Given the description of an element on the screen output the (x, y) to click on. 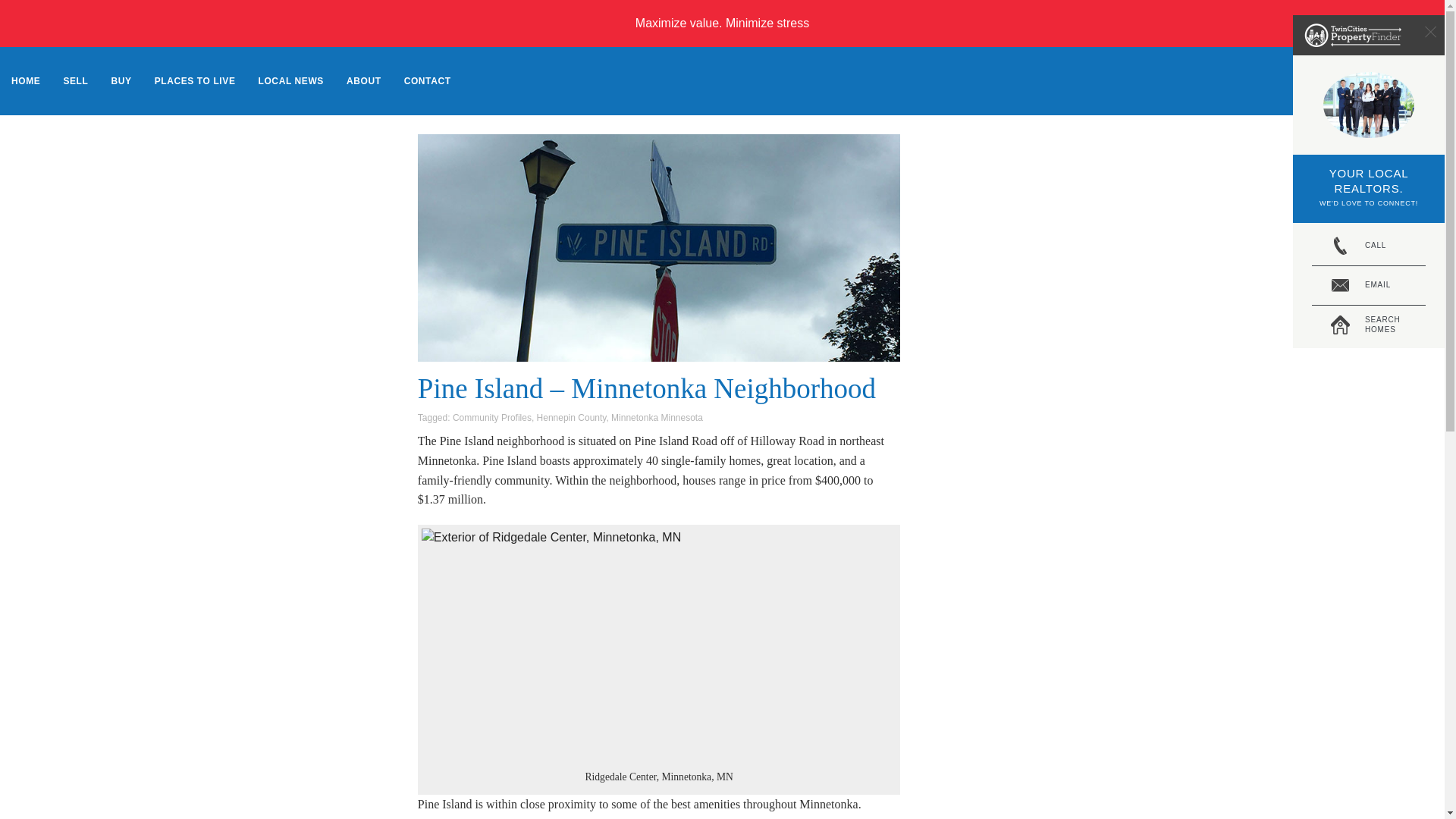
Community Profiles (491, 417)
LOCAL NEWS (290, 80)
CALL (1368, 246)
PLACES TO LIVE (1368, 324)
Maximize value. Minimize stress (194, 80)
Hennepin County (721, 22)
EMAIL (572, 417)
Minnetonka Minnesota (1368, 285)
CONTACT (657, 417)
